Given the description of an element on the screen output the (x, y) to click on. 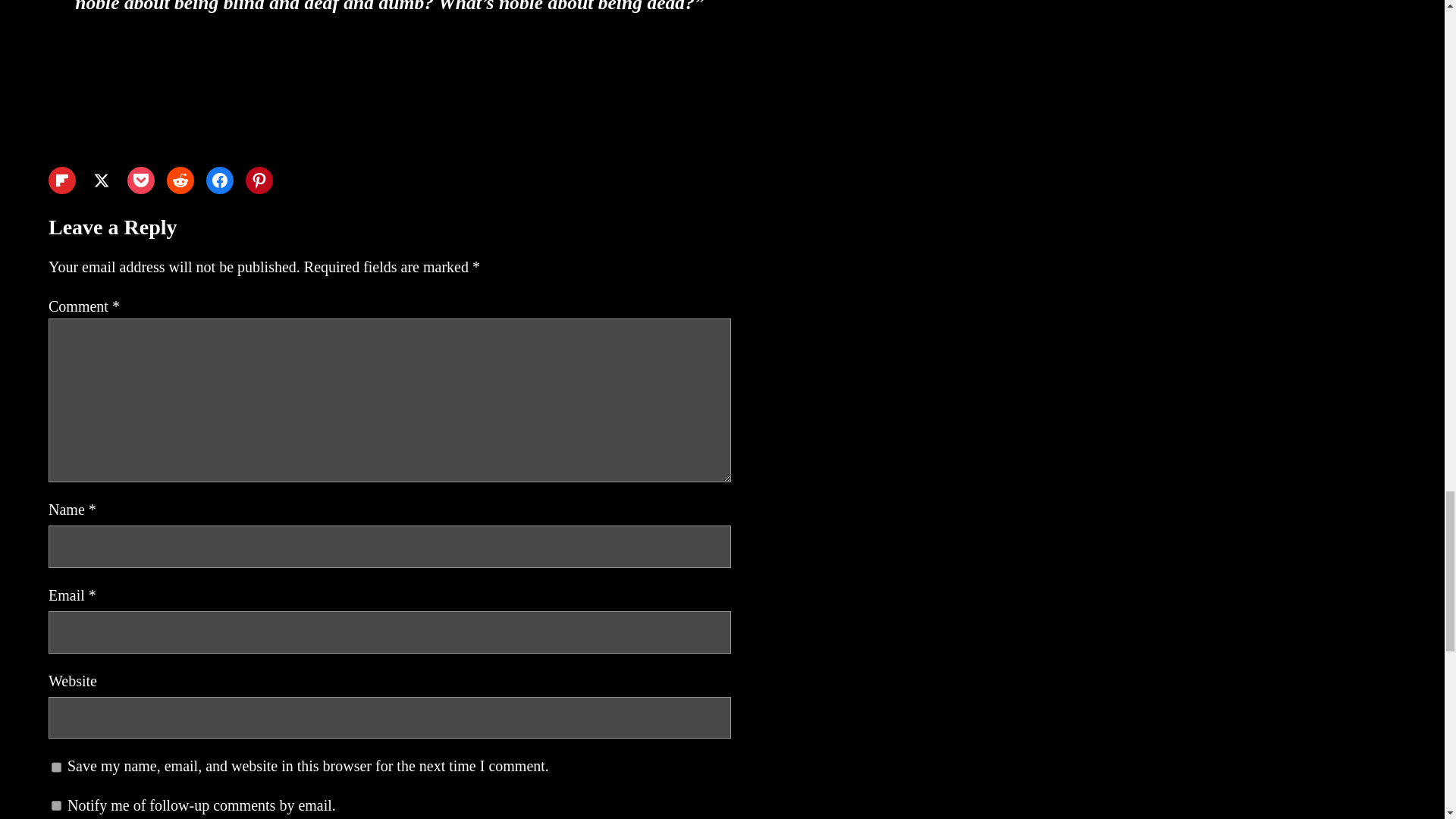
Share on Facebook (219, 180)
Share on Pocket (141, 180)
Share on Flipboard (61, 180)
subscribe (55, 805)
Share on Pinterest (259, 180)
Share on Reddit (180, 180)
Share on X (101, 180)
